Given the description of an element on the screen output the (x, y) to click on. 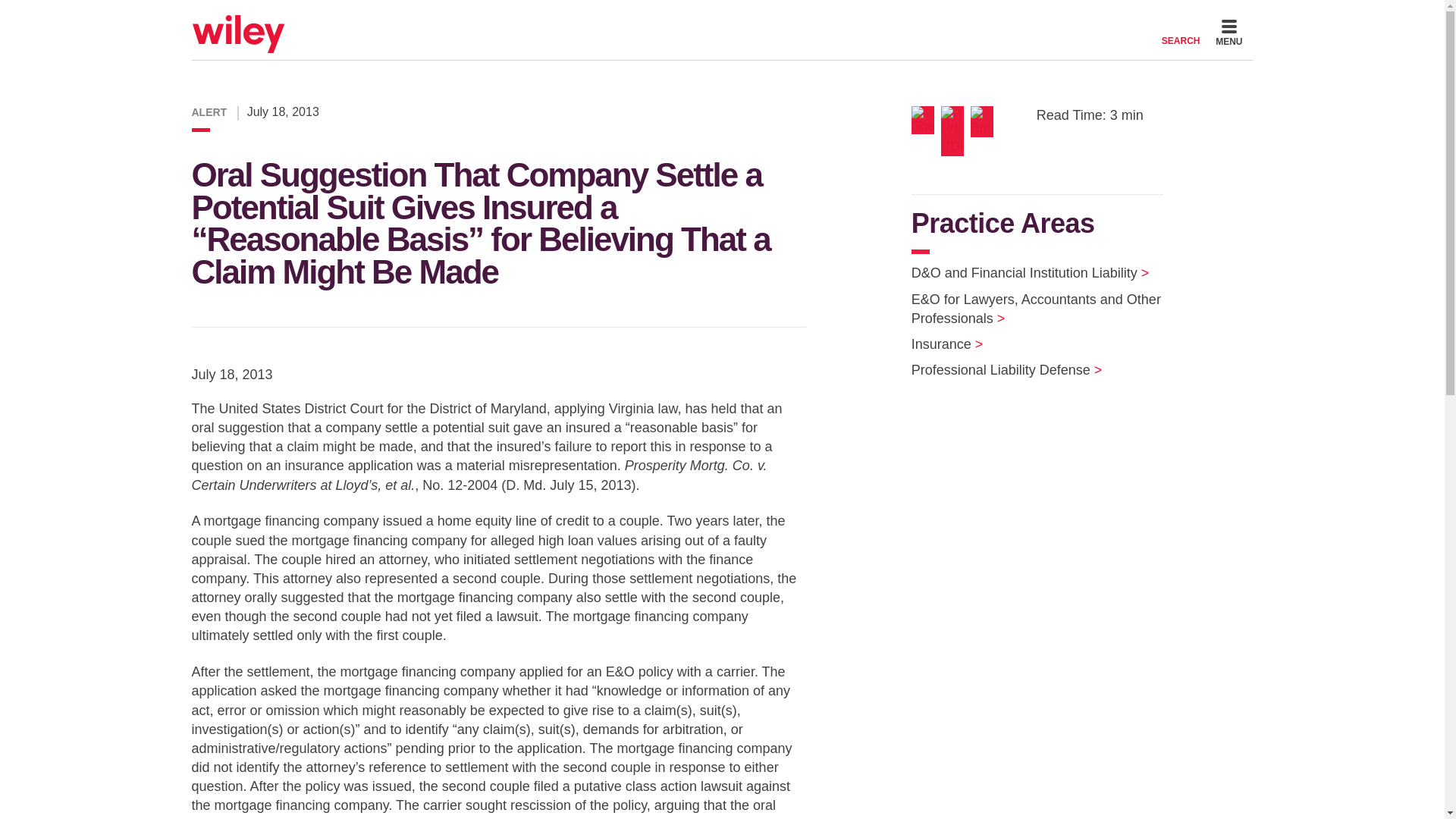
SEARCH (1180, 32)
Cookie Settings (663, 17)
Main Menu (676, 17)
MENU (1228, 34)
Menu (676, 17)
Share (925, 120)
Menu (1228, 34)
Main Content (669, 17)
